Given the description of an element on the screen output the (x, y) to click on. 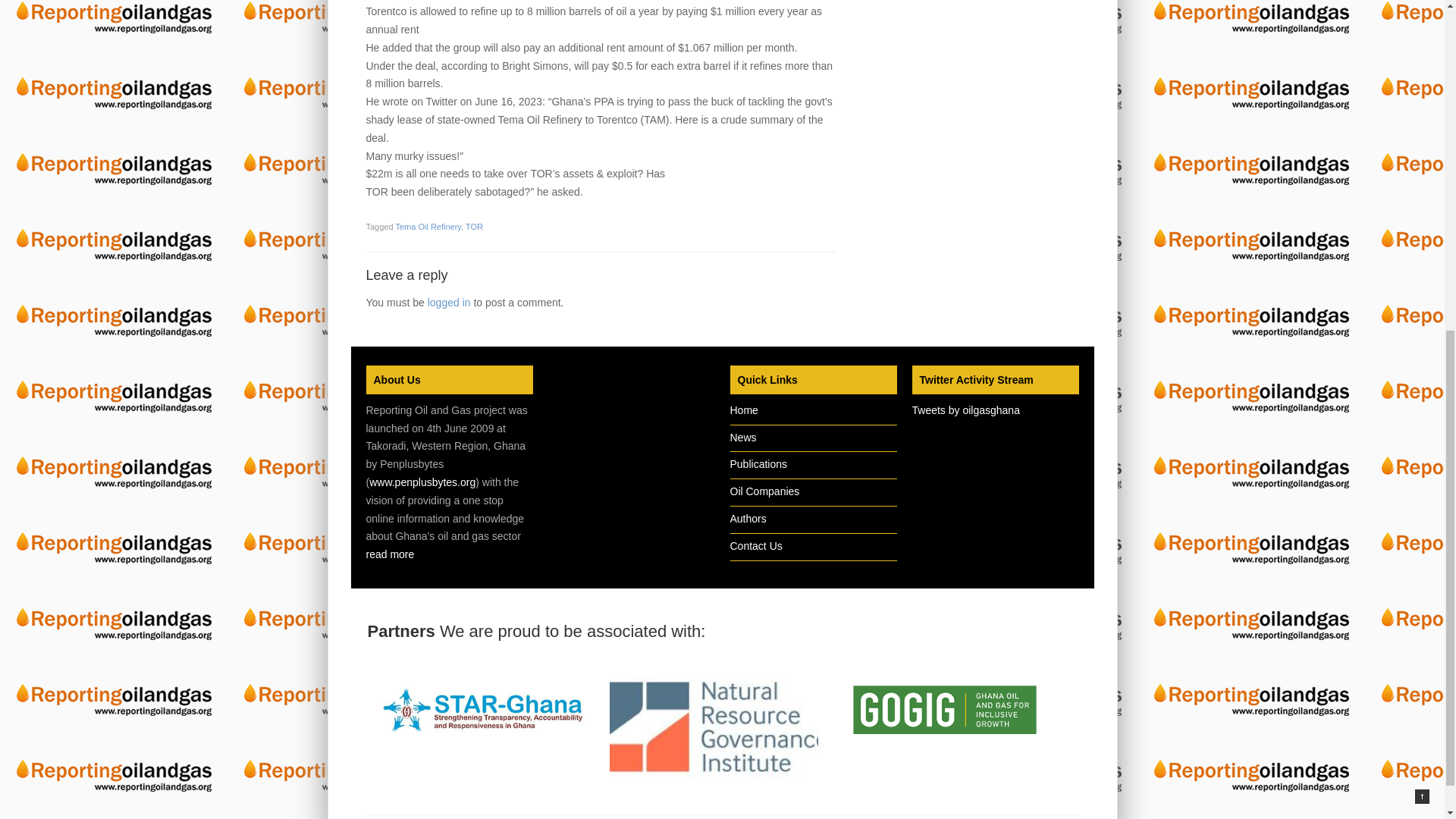
Tweets by oilgasghana (965, 410)
Scroll to top (1422, 220)
read more (389, 553)
News (742, 437)
TOR (474, 225)
www.penplusbytes.org (422, 481)
Oil Companies (764, 491)
Contact Us (755, 545)
logged in (449, 302)
Publications (758, 463)
Home (743, 410)
Tema Oil Refinery (427, 225)
Authors (747, 518)
